Given the description of an element on the screen output the (x, y) to click on. 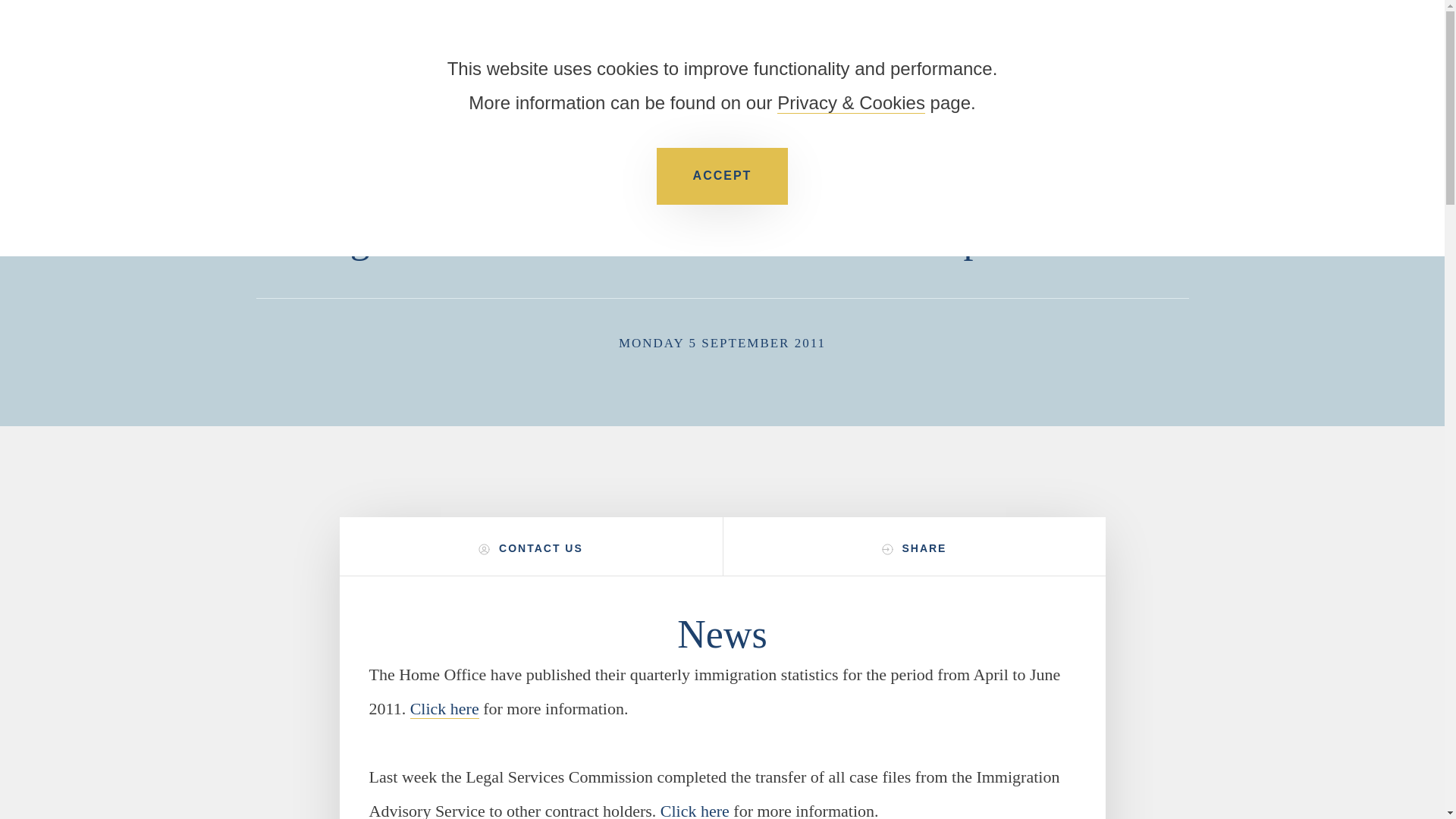
ACCEPT (722, 176)
